Given the description of an element on the screen output the (x, y) to click on. 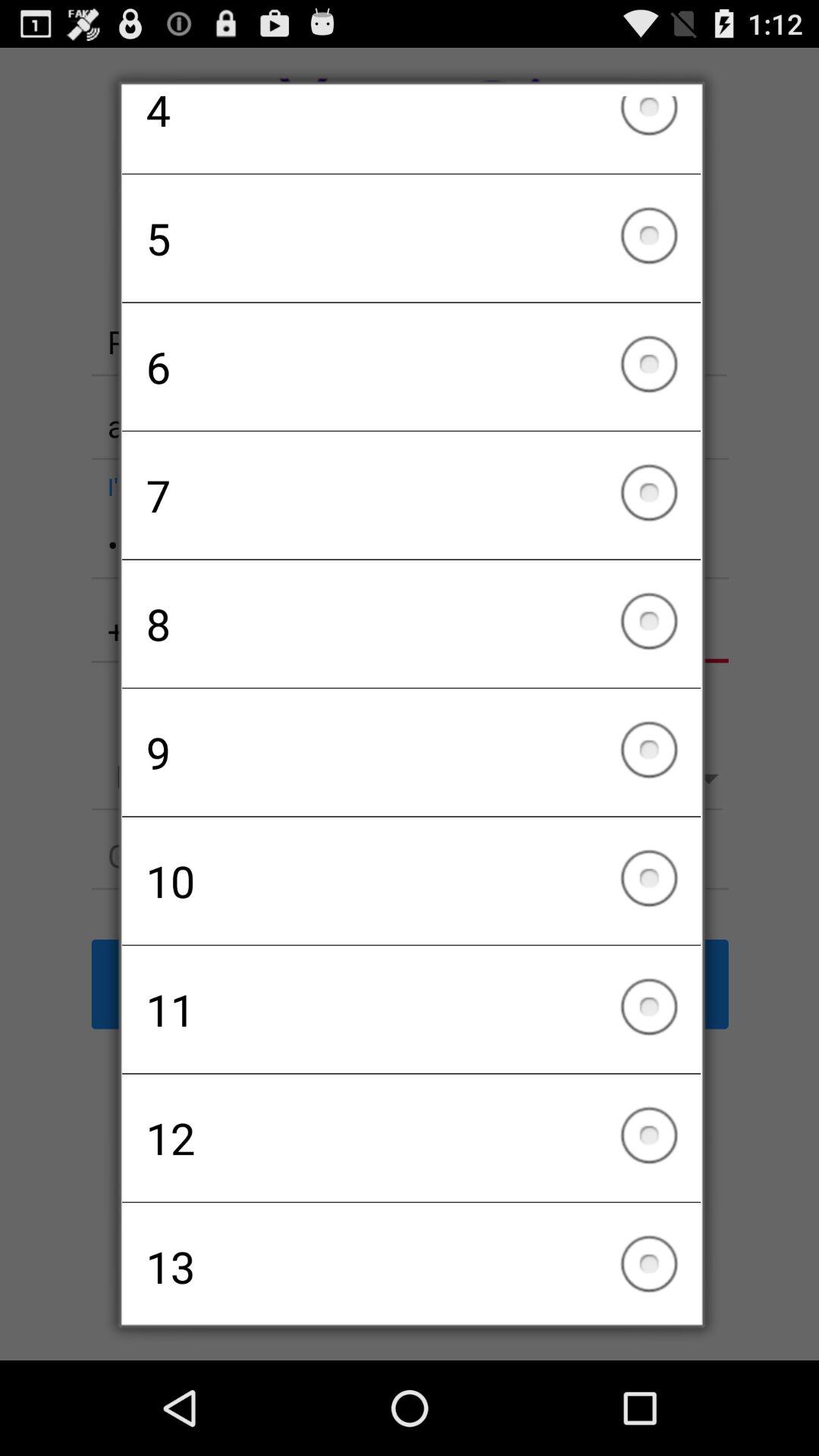
open checkbox below 8 checkbox (411, 752)
